Given the description of an element on the screen output the (x, y) to click on. 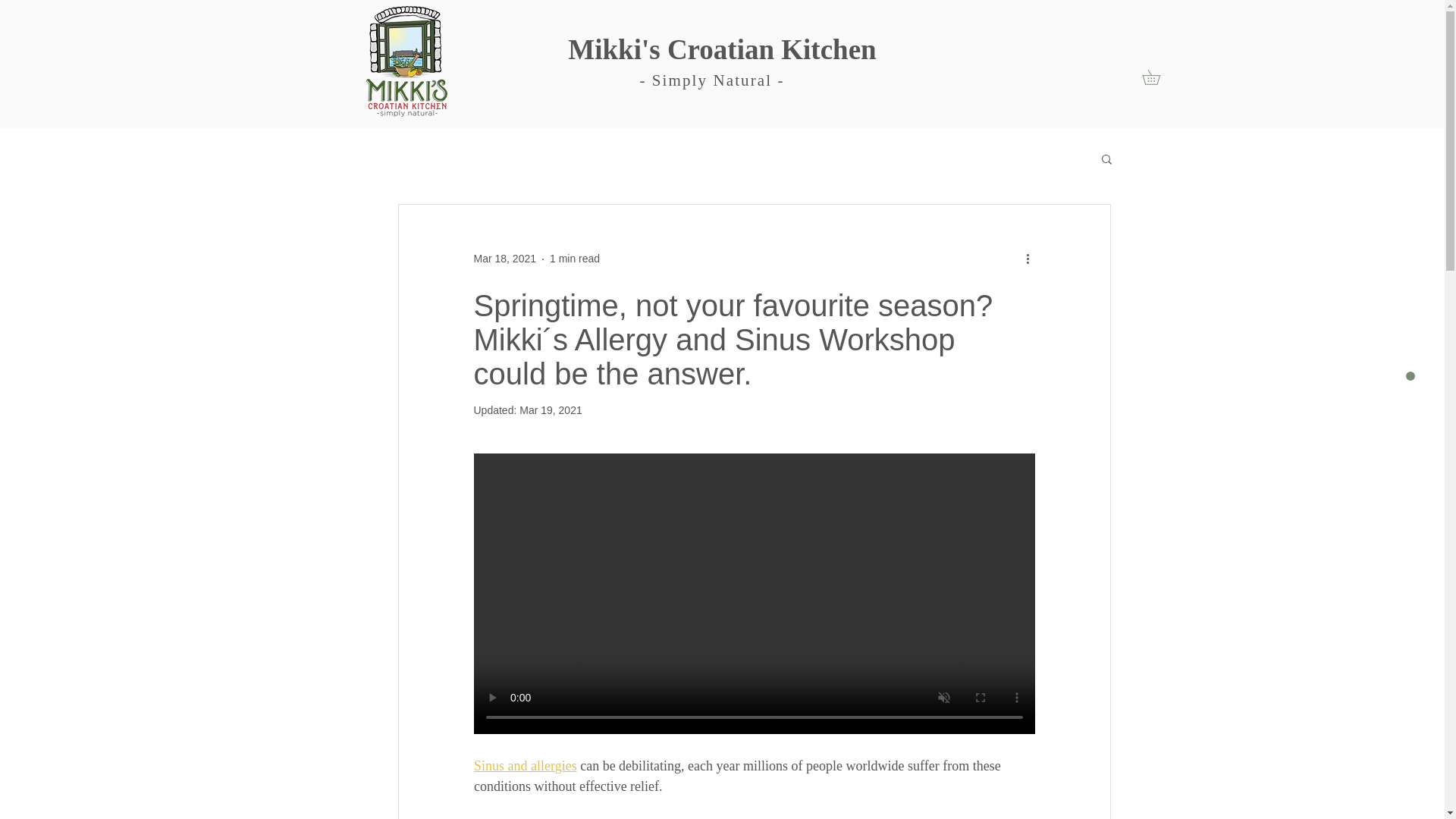
Mikki's Croatian Kitchen (721, 49)
Mar 18, 2021 (504, 258)
1 min read (574, 258)
Mar 19, 2021 (550, 410)
Sinus and allergies (524, 765)
